Given the description of an element on the screen output the (x, y) to click on. 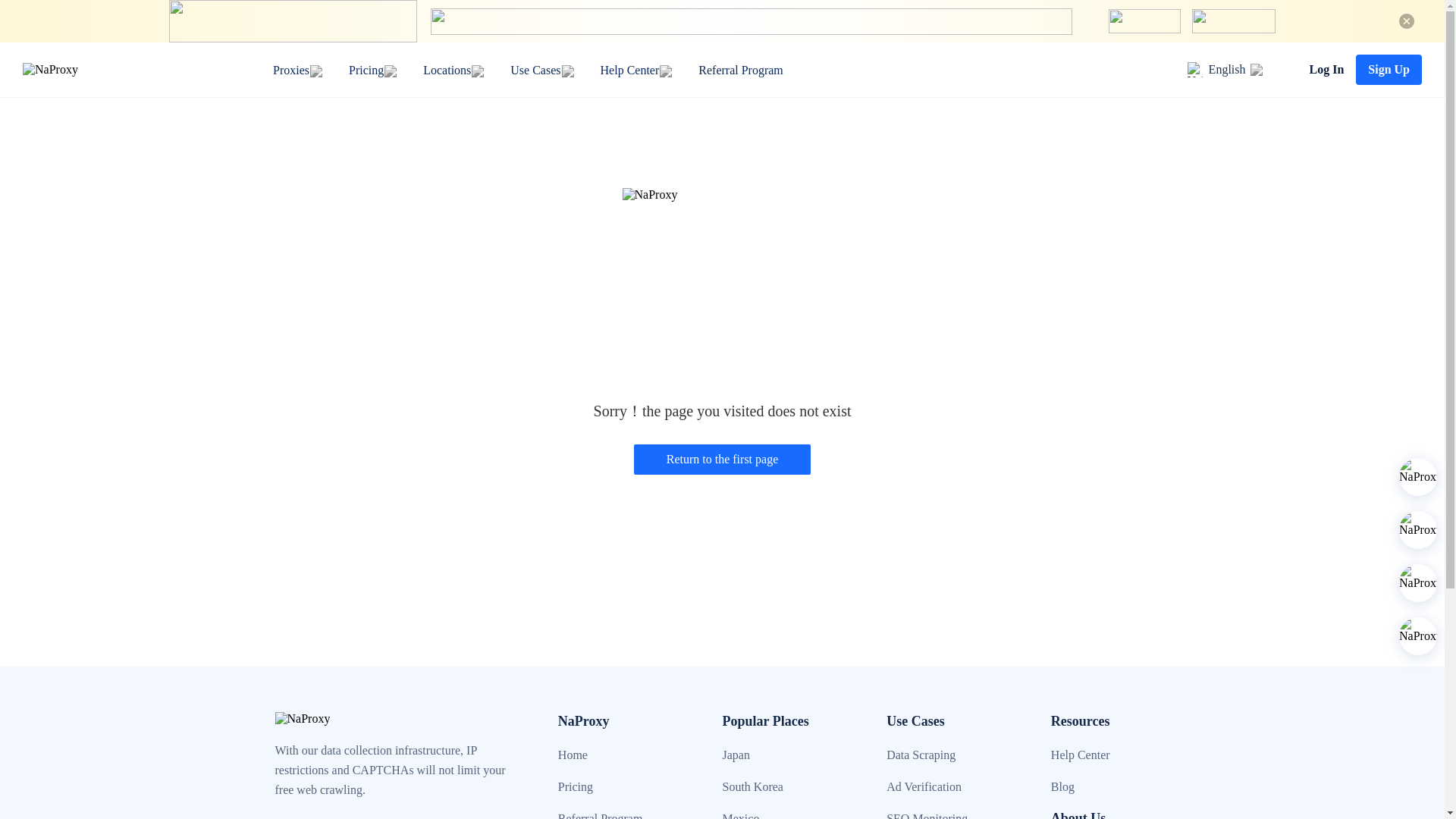
Help Center (629, 69)
Log In (1326, 69)
Referral Program (740, 69)
Sign Up (1388, 69)
Use Cases (535, 69)
